Given the description of an element on the screen output the (x, y) to click on. 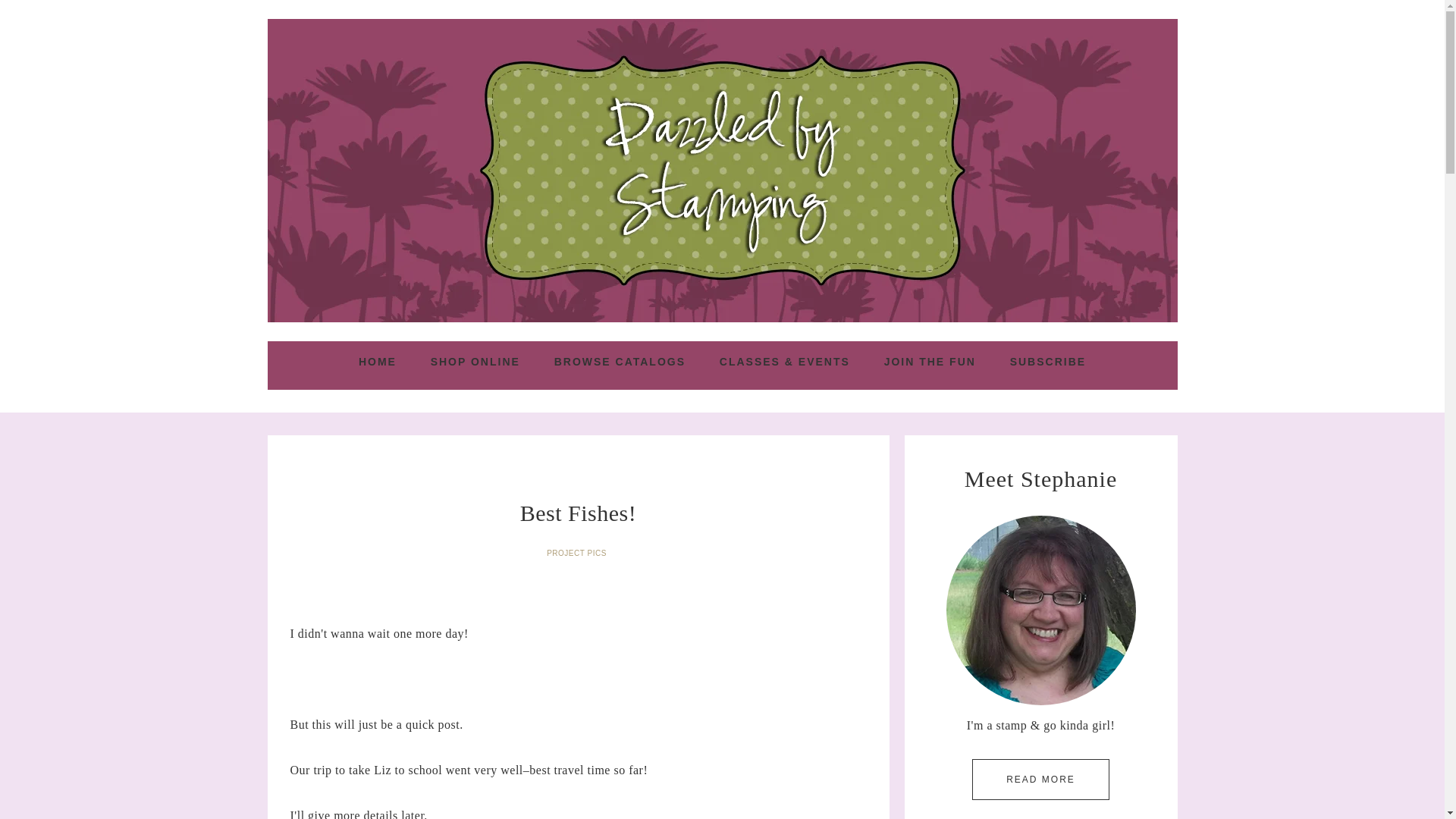
HOME (377, 361)
SUBSCRIBE (1047, 361)
JOIN THE FUN (930, 361)
PROJECT PICS (577, 552)
SHOP ONLINE (474, 361)
BROWSE CATALOGS (619, 361)
